Given the description of an element on the screen output the (x, y) to click on. 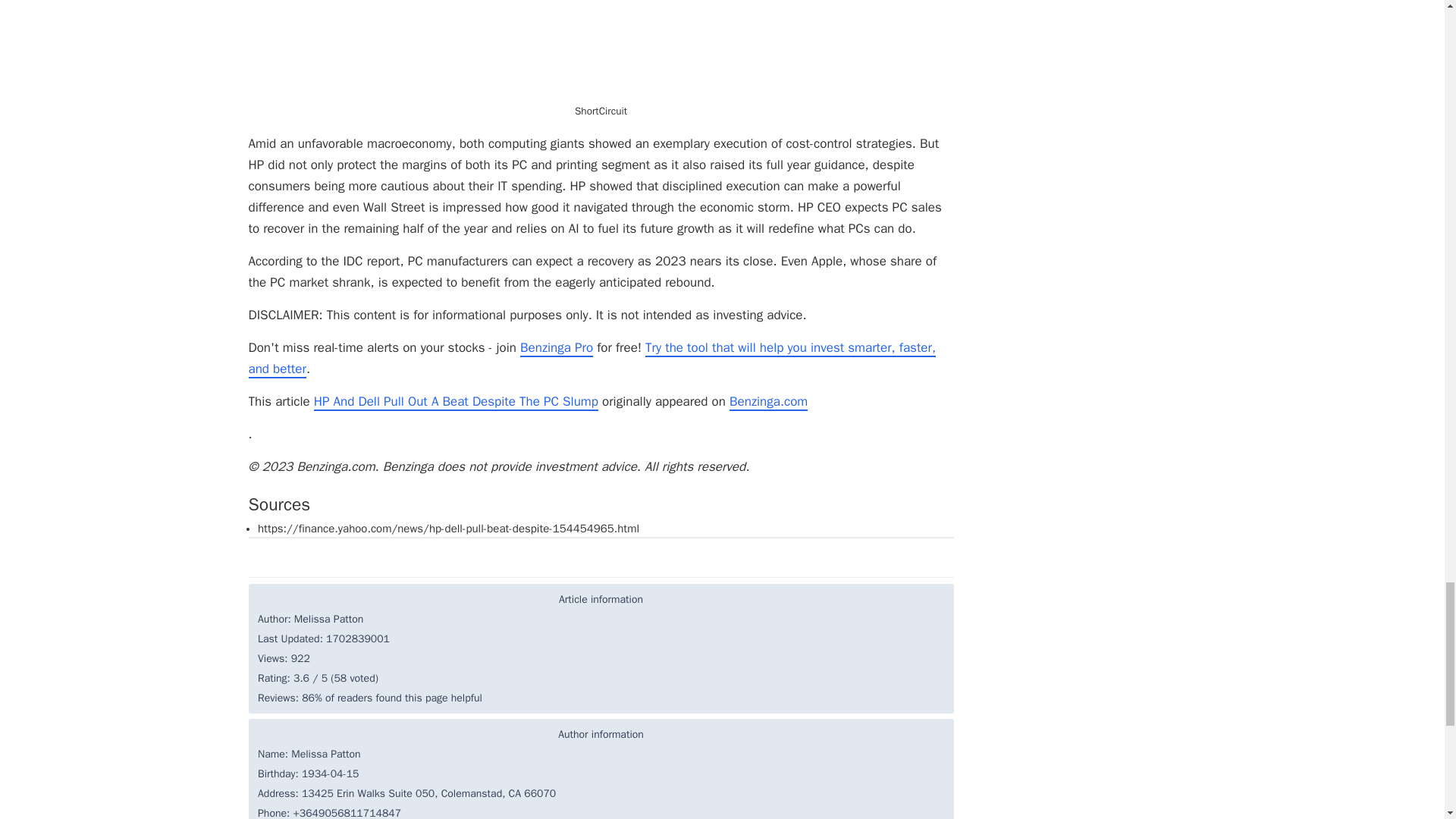
Benzinga Pro (555, 348)
HP And Dell Pull Out A Beat Despite The PC Slump (456, 401)
Benzinga.com (768, 401)
Did HP make a Dell XPS 15 killer??? - Envy 15 (600, 49)
